Given the description of an element on the screen output the (x, y) to click on. 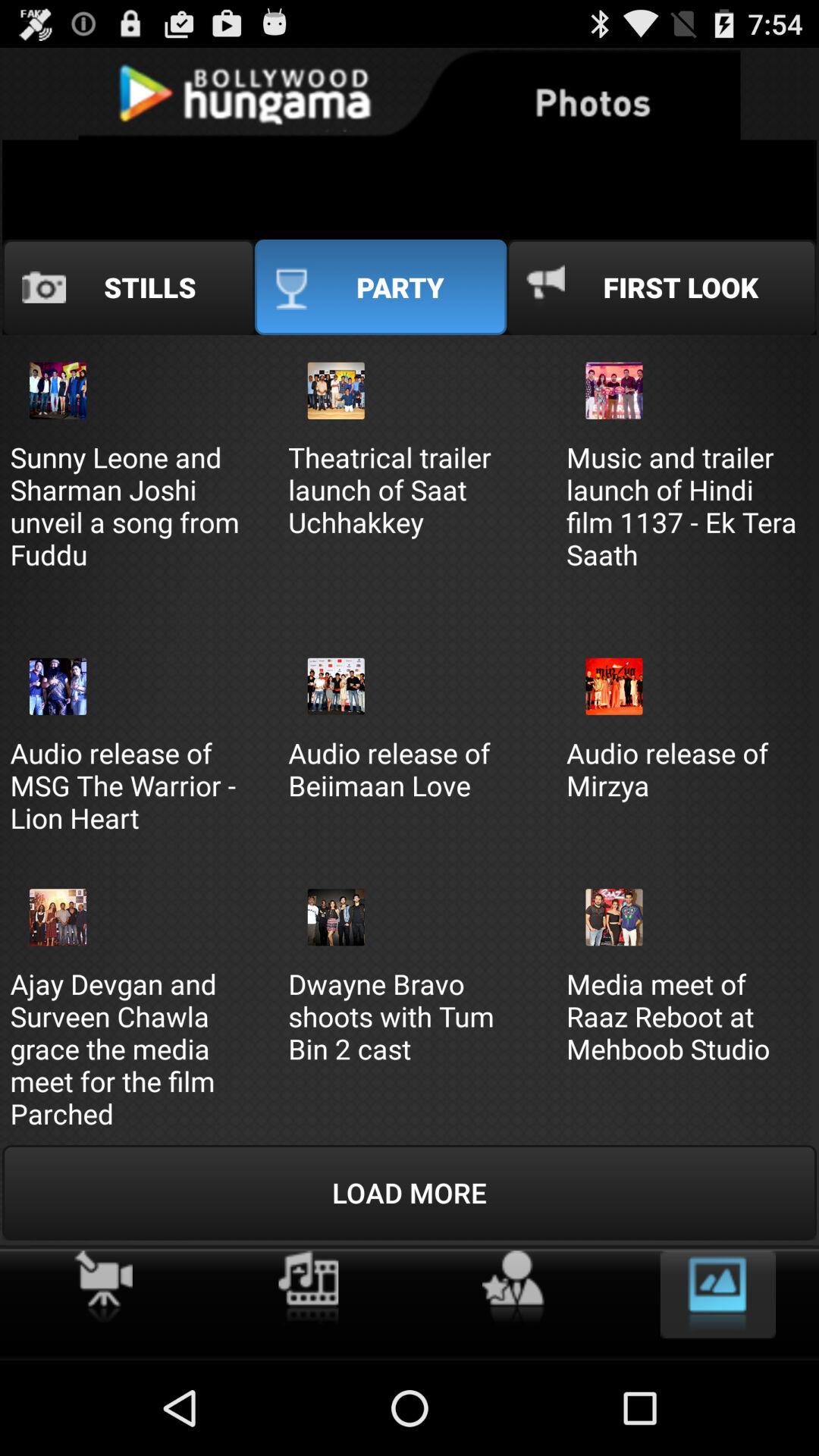
make favourite (512, 1287)
